Given the description of an element on the screen output the (x, y) to click on. 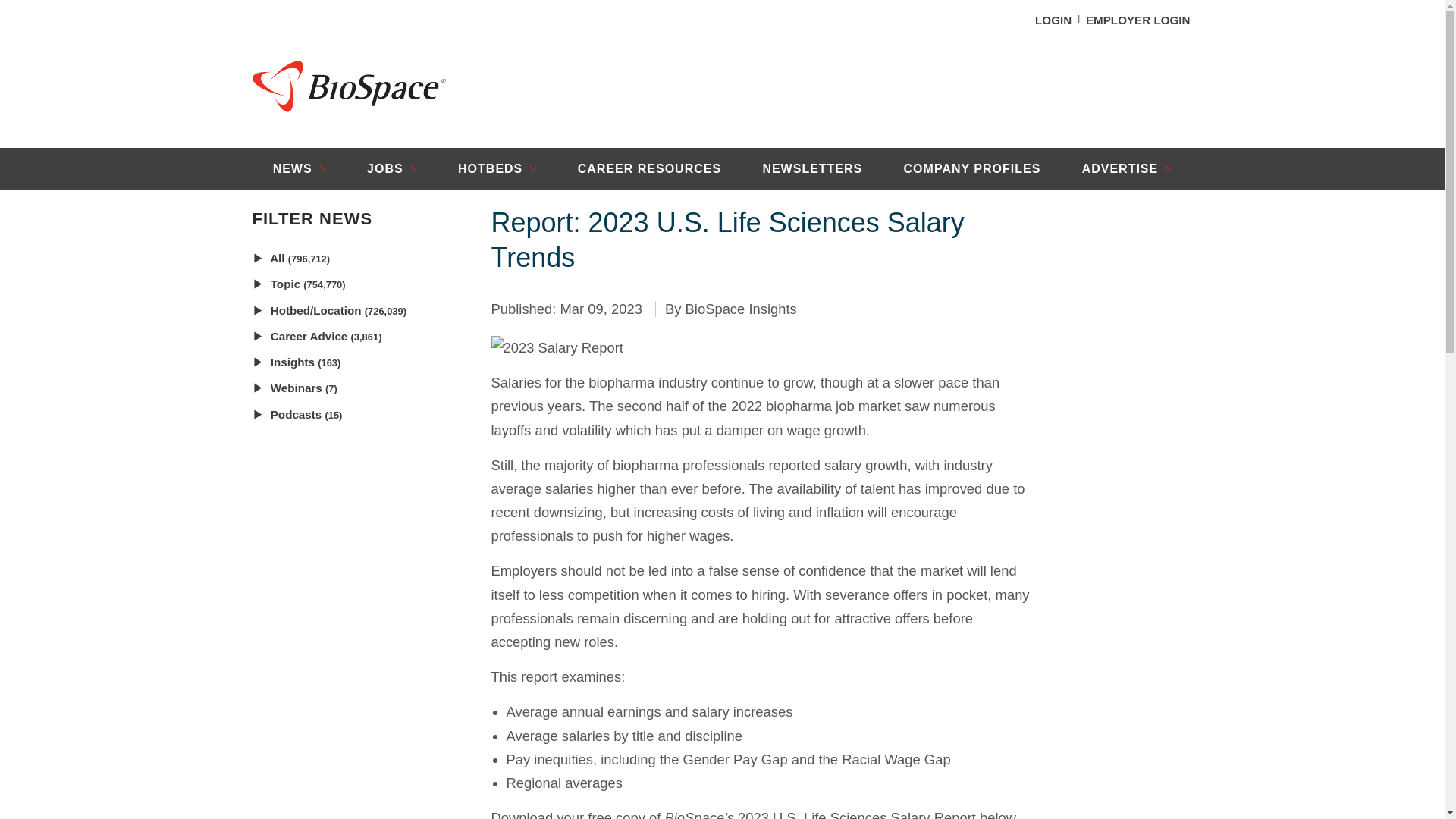
HOTBEDS (497, 169)
COMPANY PROFILES (971, 169)
NEWSLETTERS (811, 169)
JOBS (392, 169)
NEWS (298, 169)
CAREER RESOURCES (649, 169)
ADVERTISE (1126, 169)
BioSpace (348, 86)
LOGIN (1053, 20)
EMPLOYER LOGIN (1137, 20)
